Given the description of an element on the screen output the (x, y) to click on. 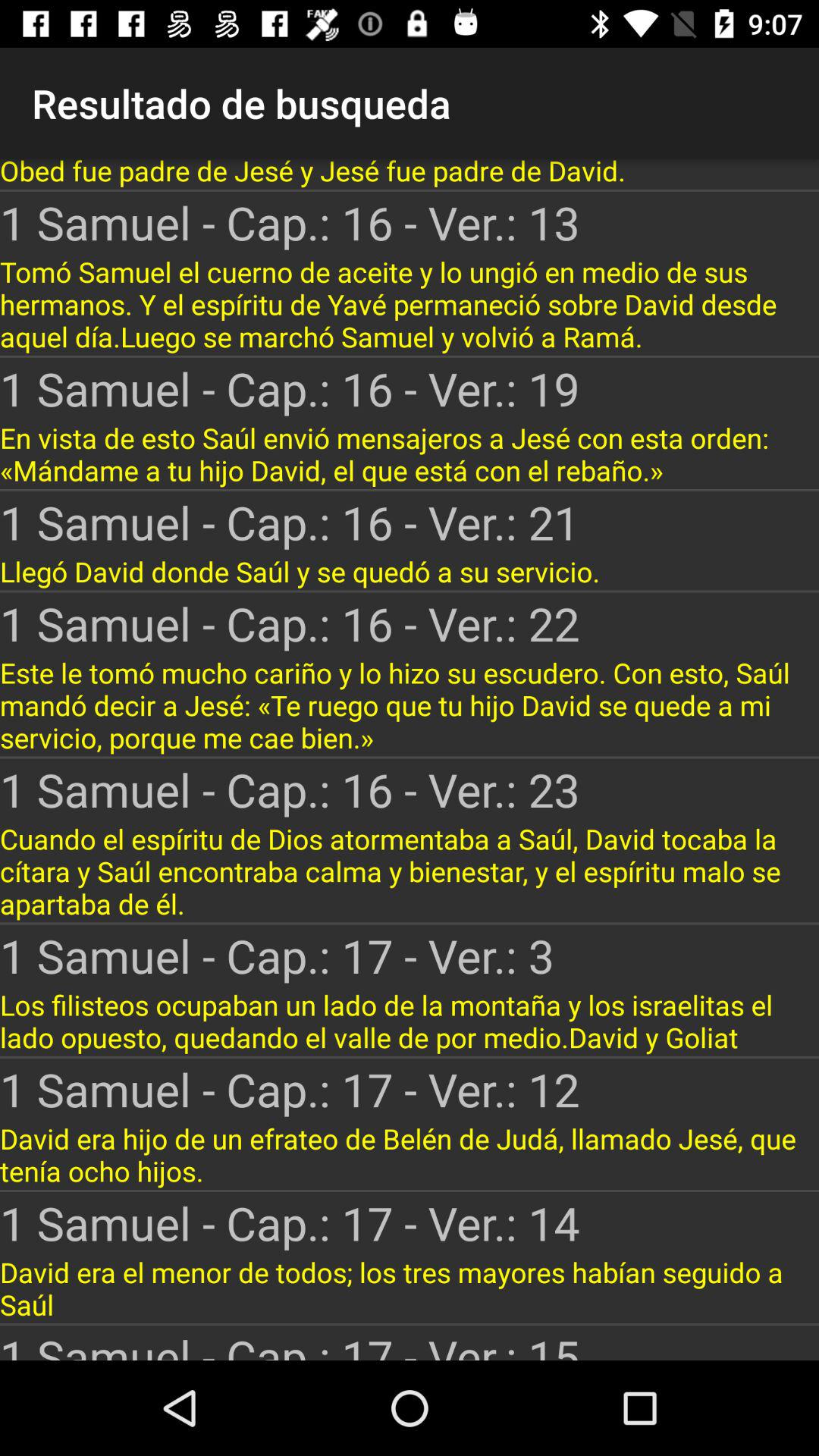
click item below resultado de busqueda item (409, 174)
